Given the description of an element on the screen output the (x, y) to click on. 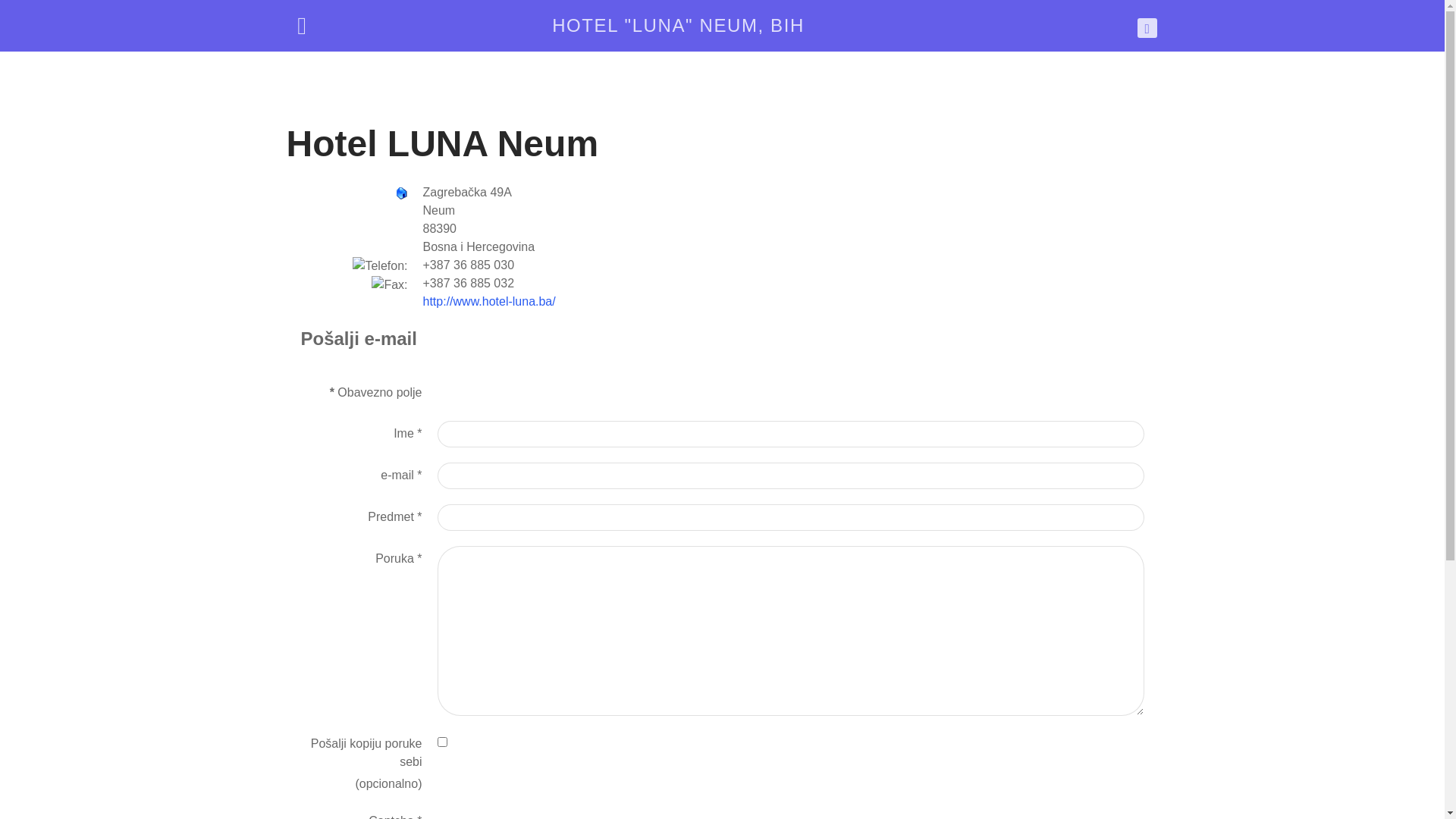
HOTEL "LUNA" NEUM, BIH Element type: text (678, 25)
http://www.hotel-luna.ba/ Element type: text (489, 300)
